Given the description of an element on the screen output the (x, y) to click on. 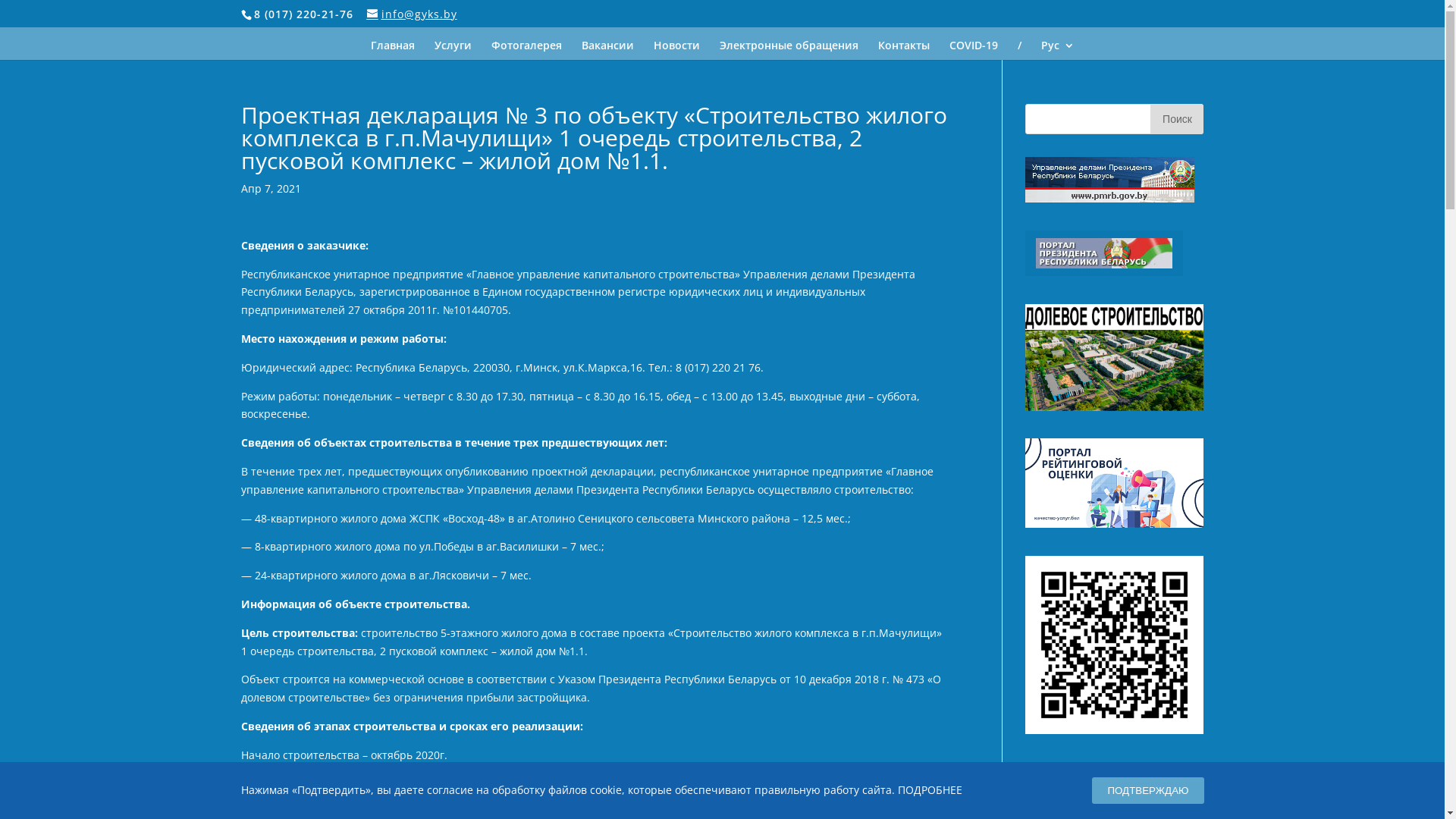
/ Element type: text (1019, 49)
info@gyks.by Element type: text (412, 13)
COVID-19 Element type: text (973, 49)
